Given the description of an element on the screen output the (x, y) to click on. 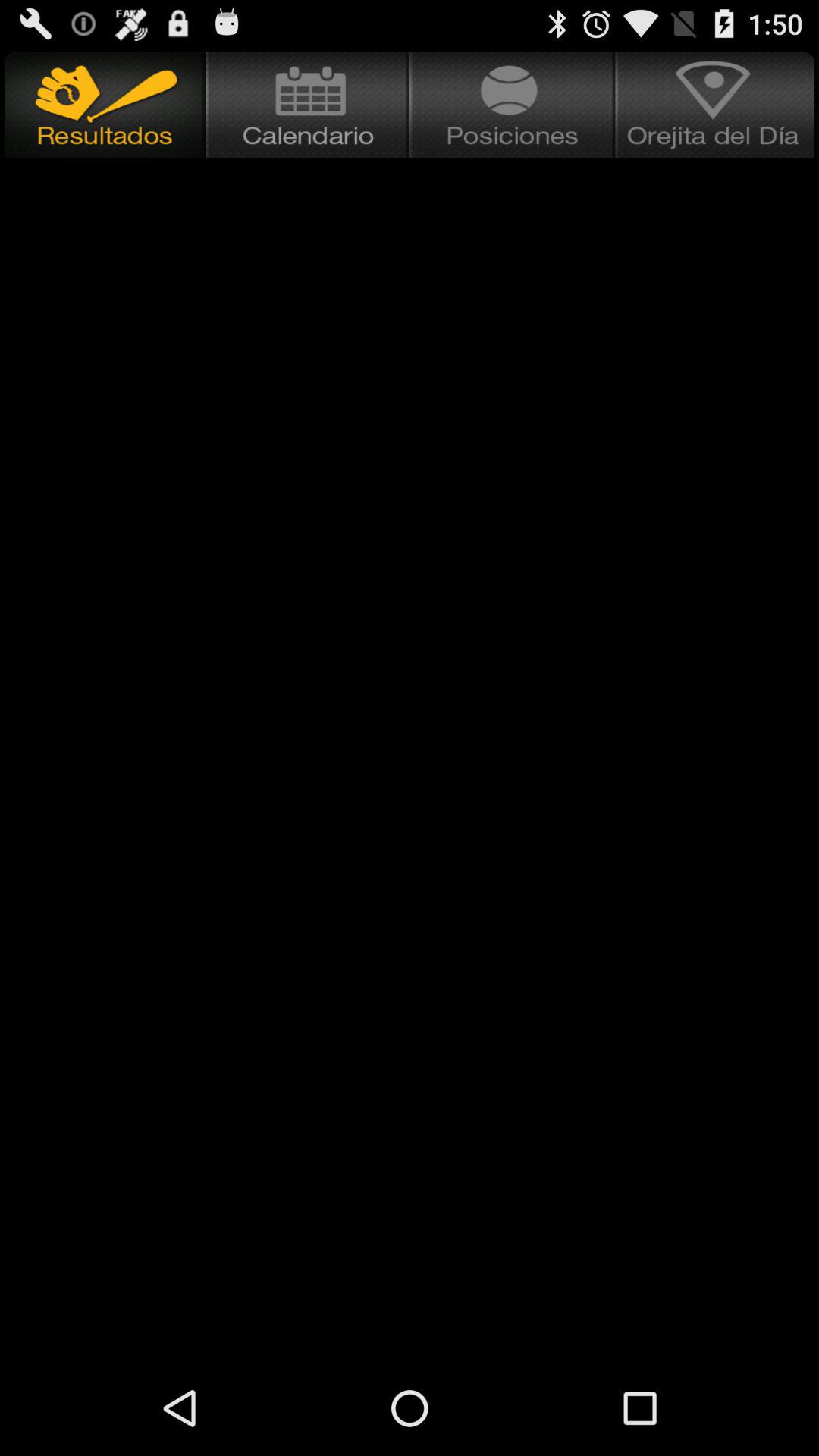
toggle posiciones (512, 104)
